Given the description of an element on the screen output the (x, y) to click on. 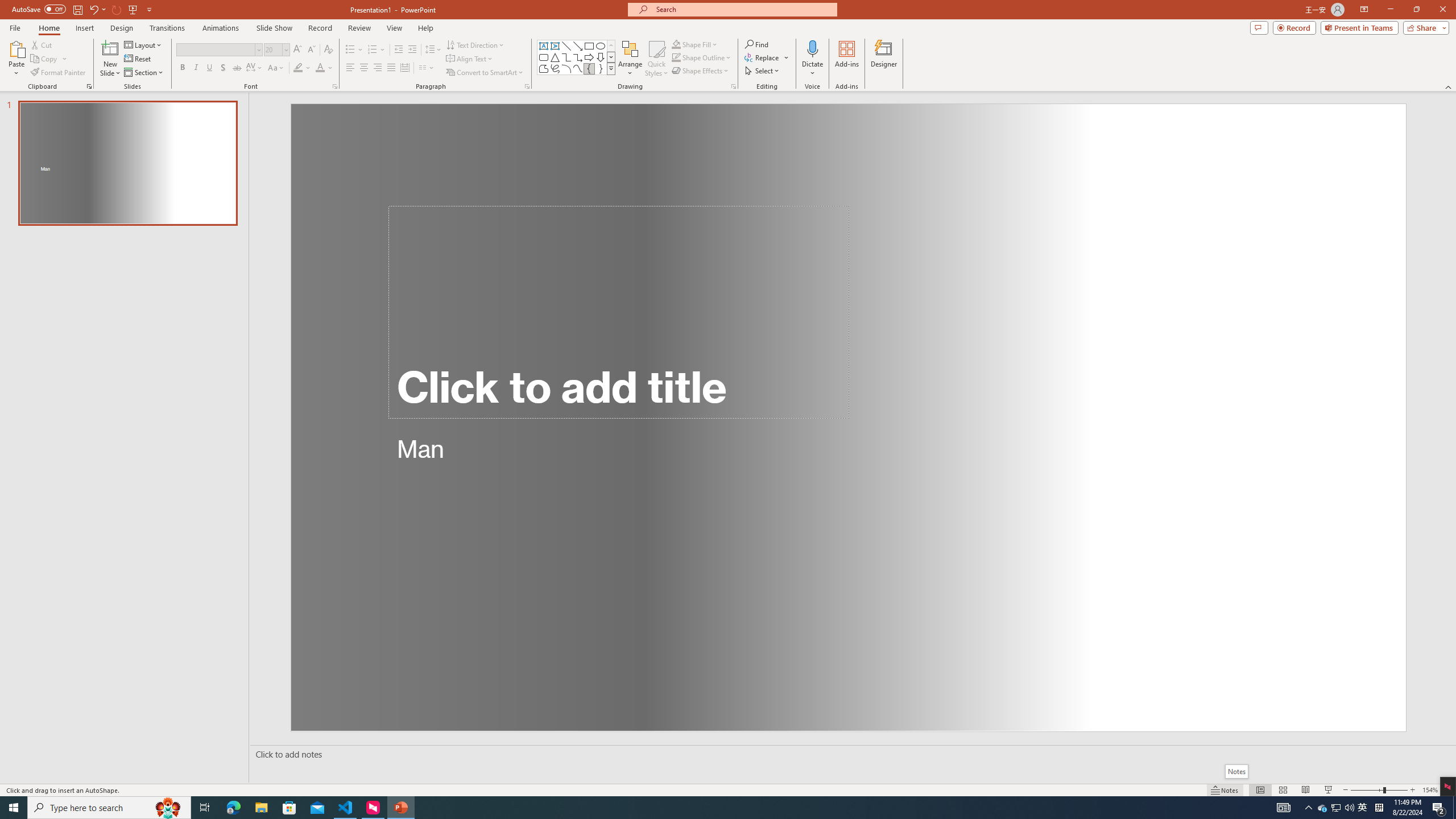
Arrow: Down (600, 57)
Format Object... (733, 85)
Paragraph... (526, 85)
Shapes (611, 68)
Clear Formatting (327, 49)
Line (566, 45)
Arrow: Right (589, 57)
Line Spacing (433, 49)
Format Painter (58, 72)
Class: MsoCommandBar (728, 789)
Align Text (470, 58)
